Given the description of an element on the screen output the (x, y) to click on. 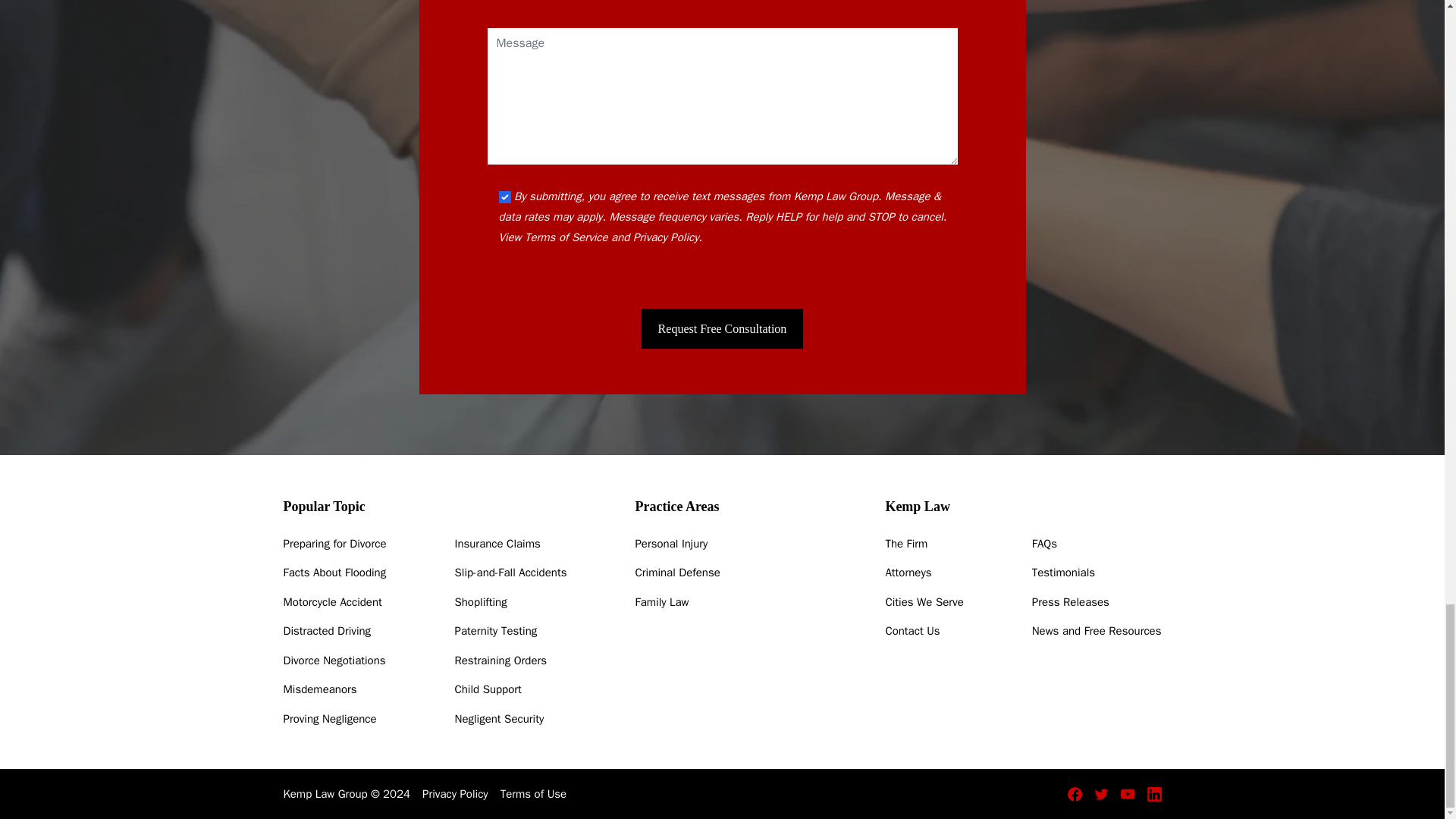
1 (505, 196)
Request Free Consultation (722, 328)
